Given the description of an element on the screen output the (x, y) to click on. 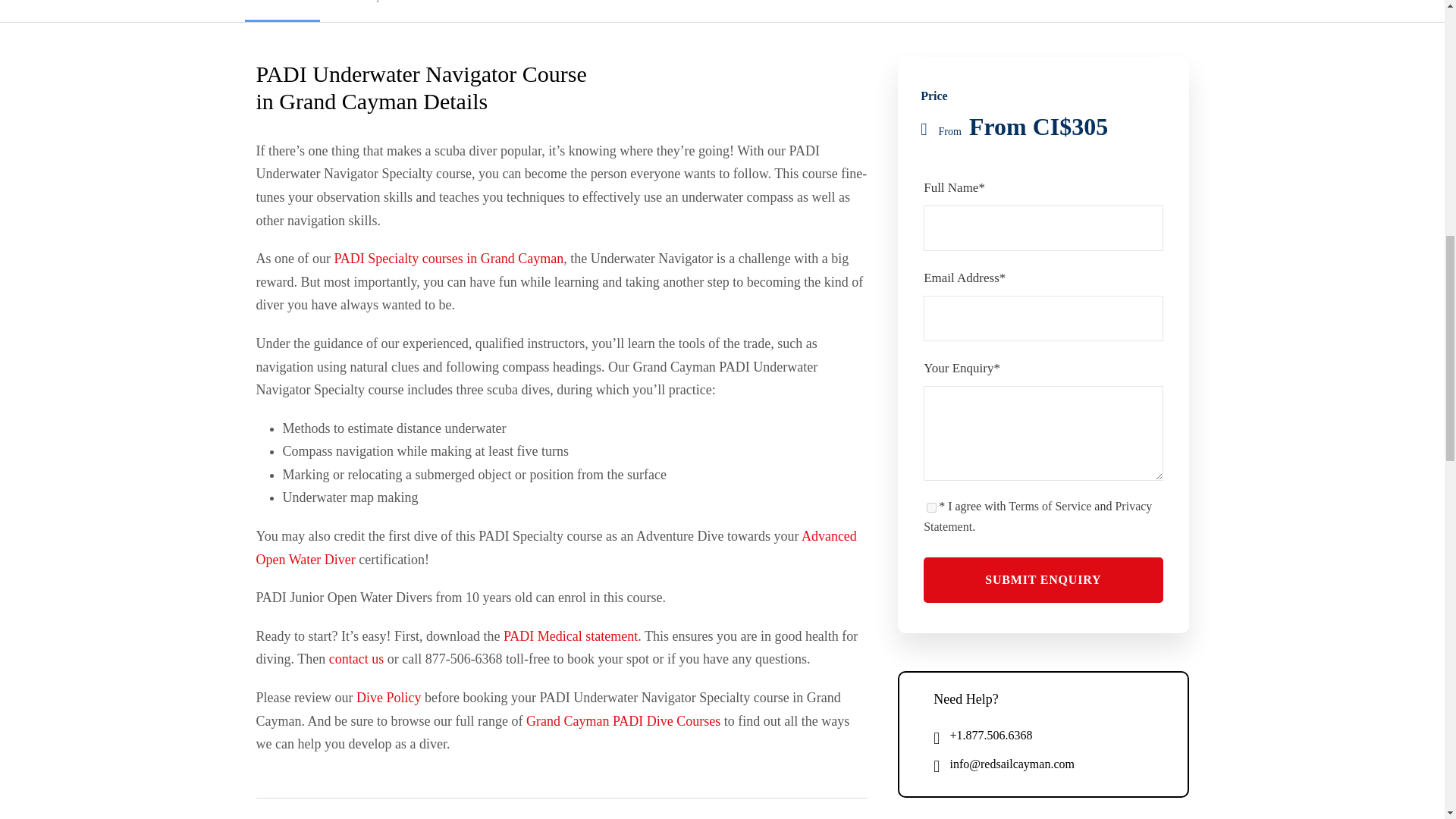
Submit Enquiry (1042, 579)
on (931, 507)
